Given the description of an element on the screen output the (x, y) to click on. 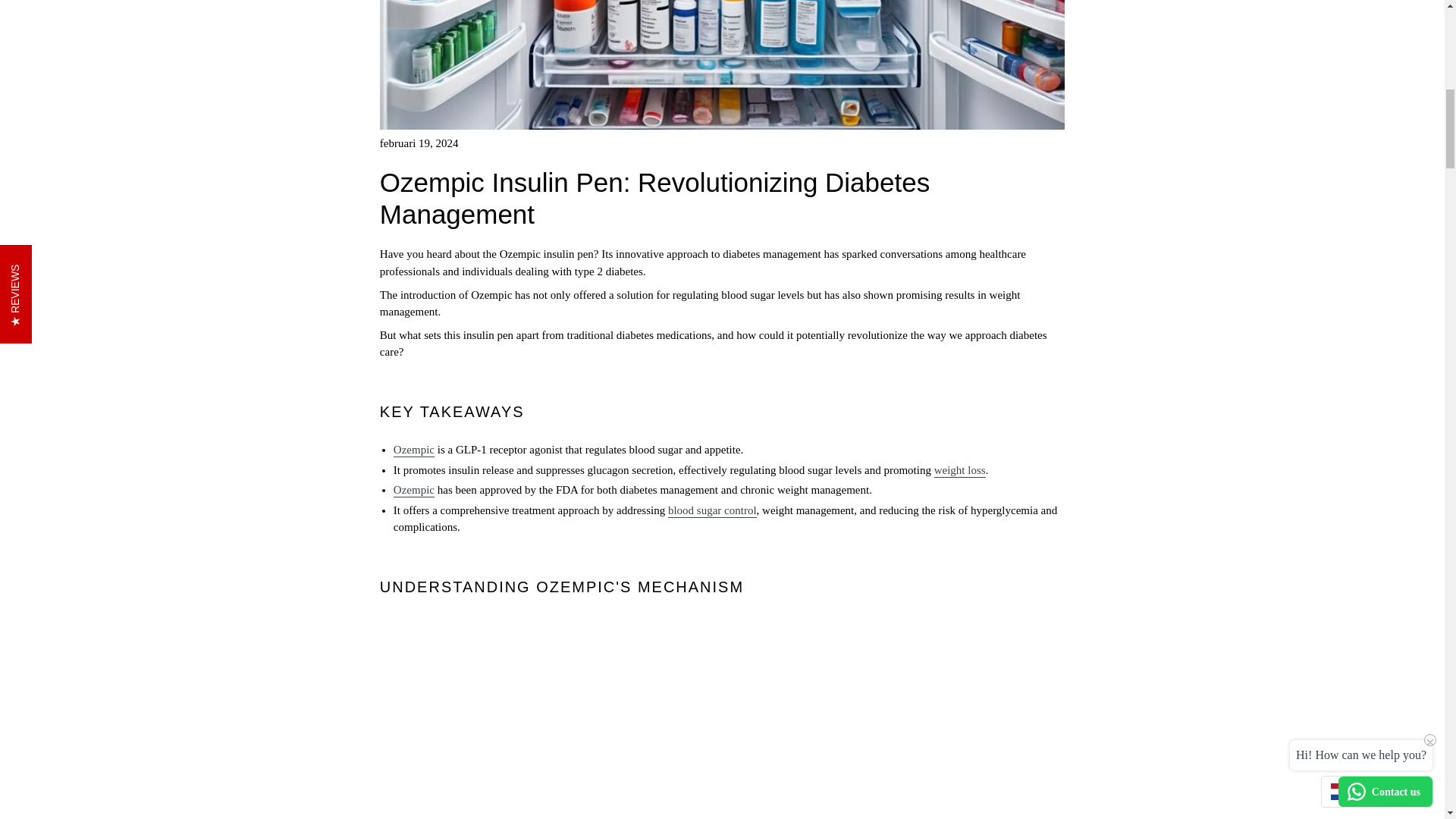
blood sugar control (712, 510)
Ozempic (413, 450)
Ozempic (413, 490)
weight loss (959, 470)
